Given the description of an element on the screen output the (x, y) to click on. 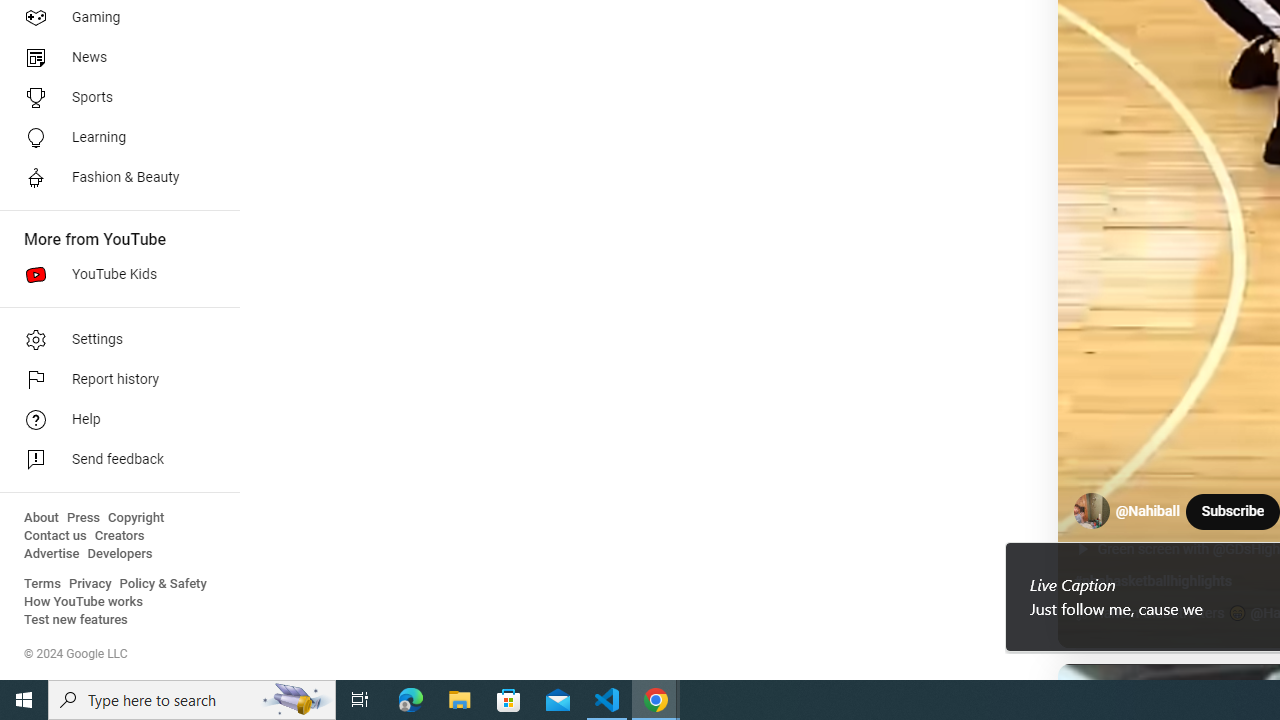
Learning (113, 137)
How YouTube works (83, 602)
Press (83, 518)
Developers (120, 554)
Report history (113, 380)
@Nahiball (1147, 511)
#nbabasketballhighlights (1151, 581)
Contact us (55, 536)
